Given the description of an element on the screen output the (x, y) to click on. 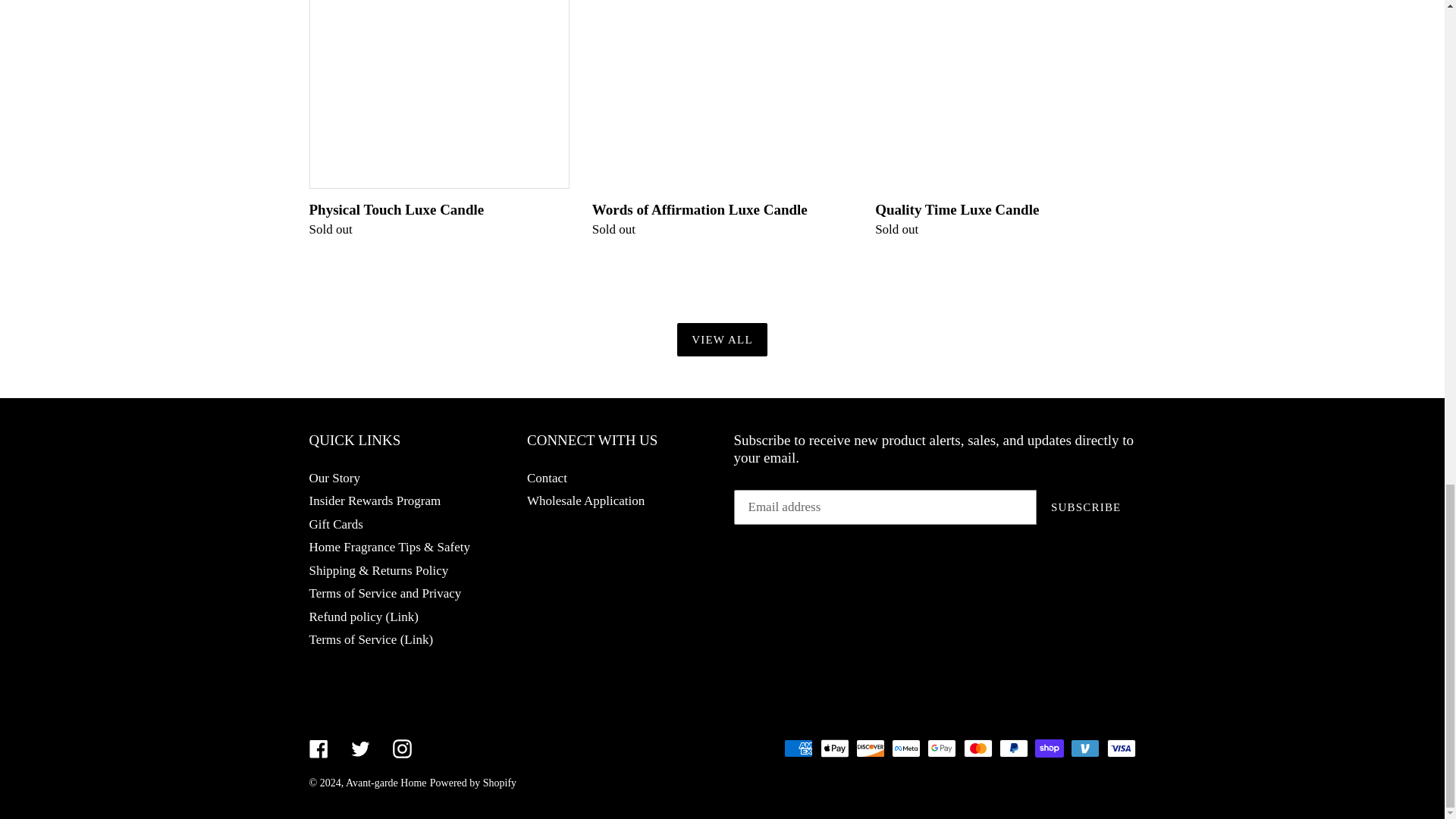
Insider Rewards Program (374, 500)
Gift Cards (335, 523)
Physical Touch Luxe Candle (438, 119)
Words of Affirmation Luxe Candle (721, 119)
Terms of Service and Privacy (384, 593)
Contact (547, 477)
Quality Time Luxe Candle (1005, 119)
VIEW ALL (722, 339)
Our Story (334, 477)
